Given the description of an element on the screen output the (x, y) to click on. 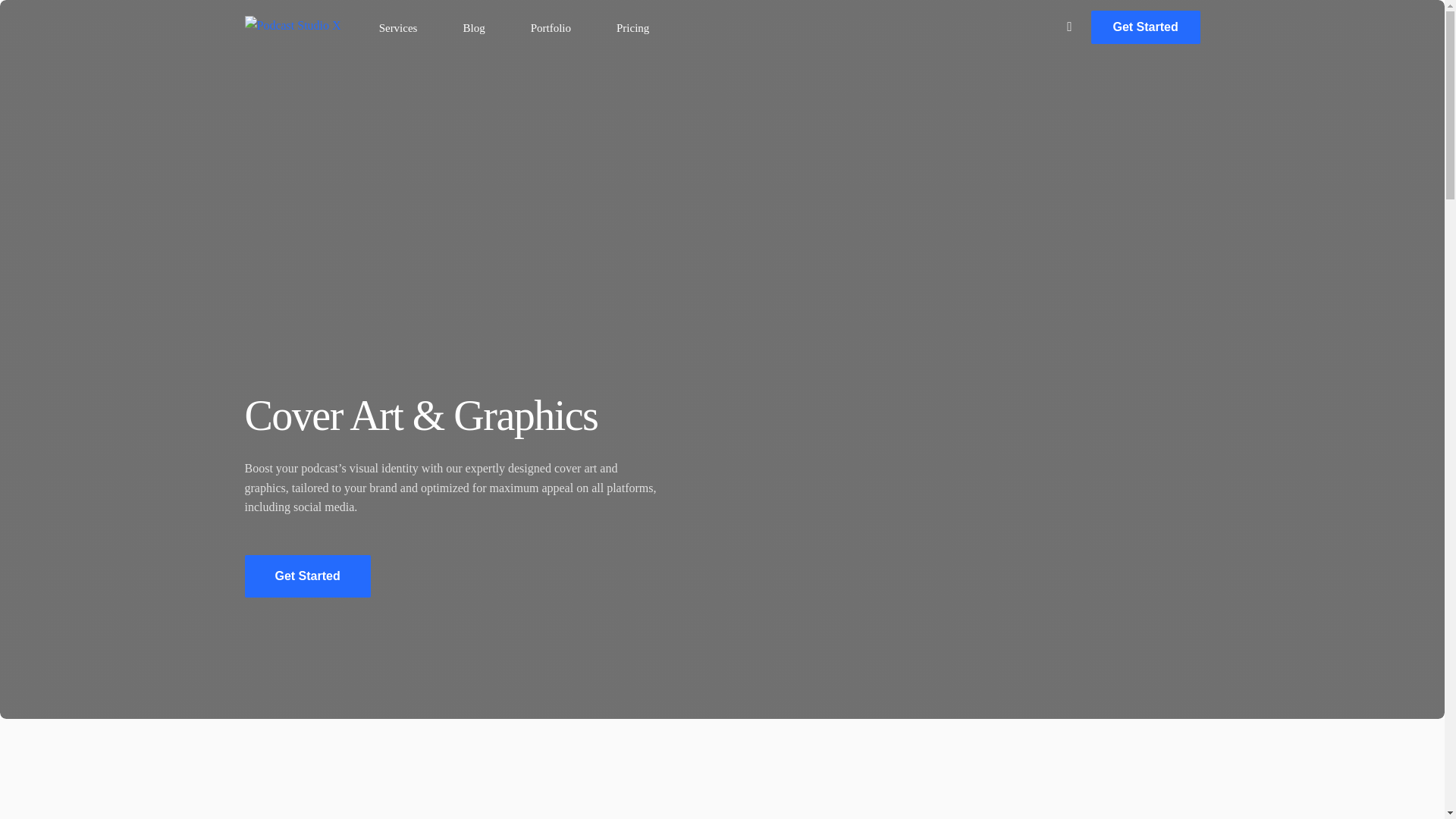
Blog (472, 27)
Get Started (306, 576)
Pricing (632, 27)
Get Started (1144, 27)
Services (398, 27)
Portfolio (551, 27)
